Given the description of an element on the screen output the (x, y) to click on. 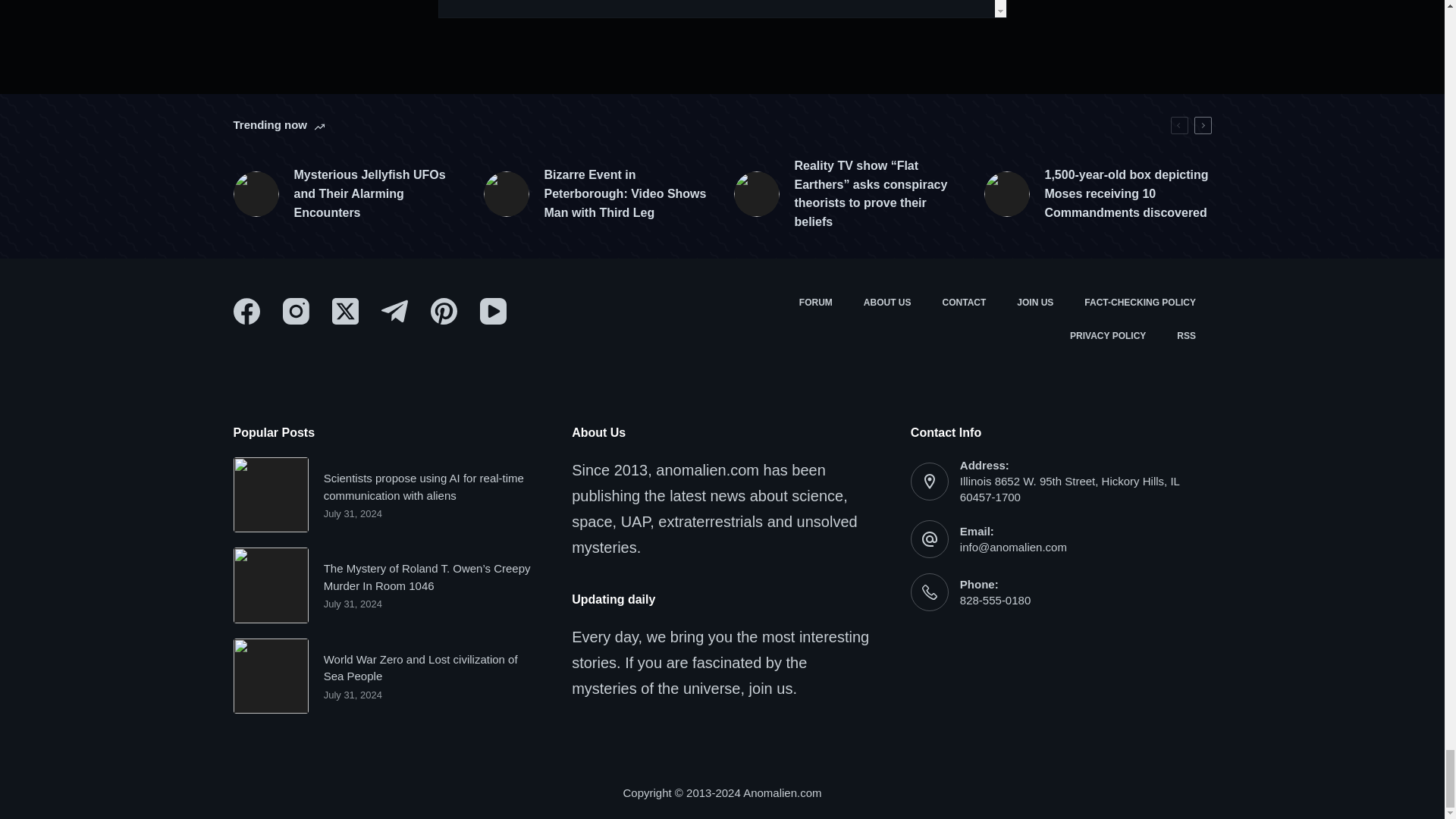
Contact us (964, 303)
Comments (722, 9)
Discussion Forum (815, 303)
